Given the description of an element on the screen output the (x, y) to click on. 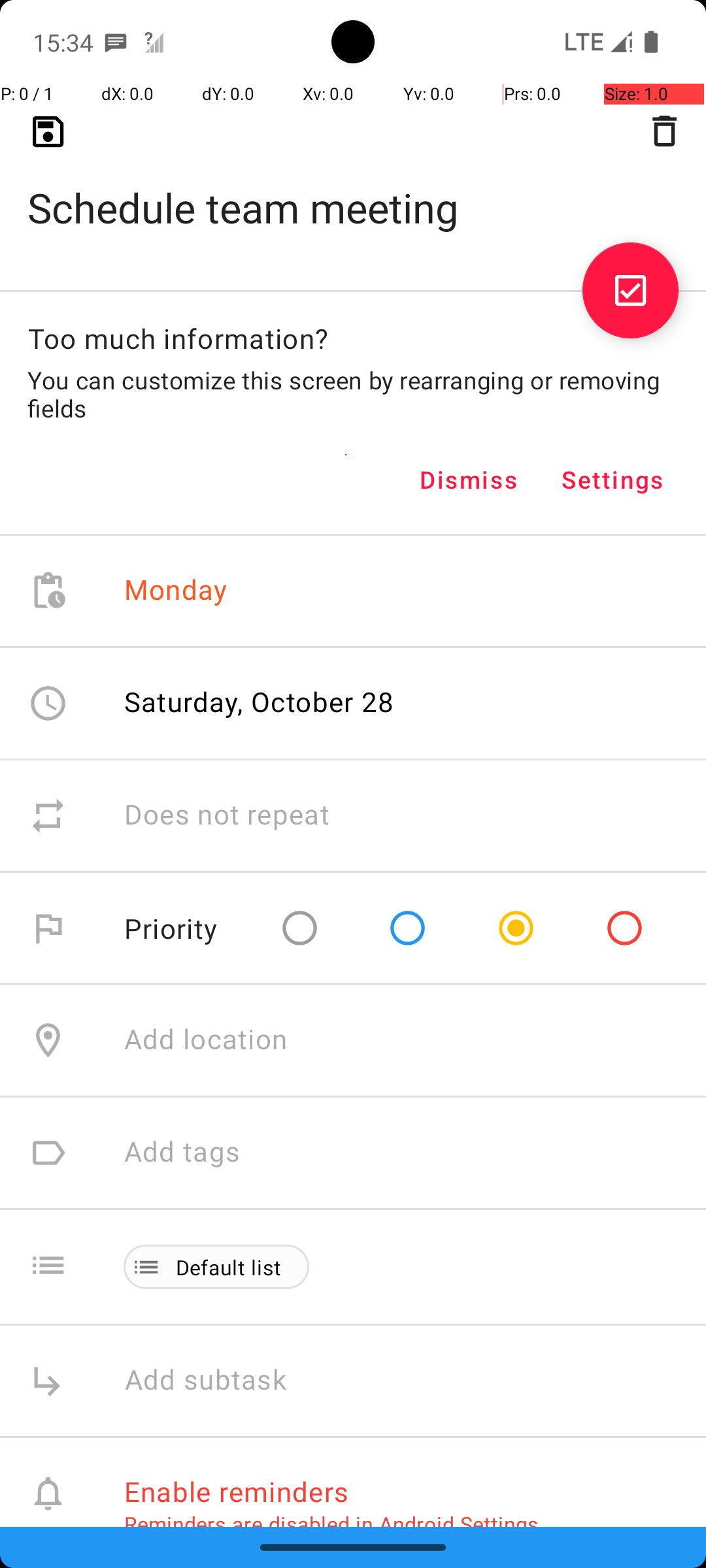
Schedule team meeting Element type: android.widget.EditText (353, 186)
Saturday, October 28 Element type: android.widget.TextView (258, 700)
